Given the description of an element on the screen output the (x, y) to click on. 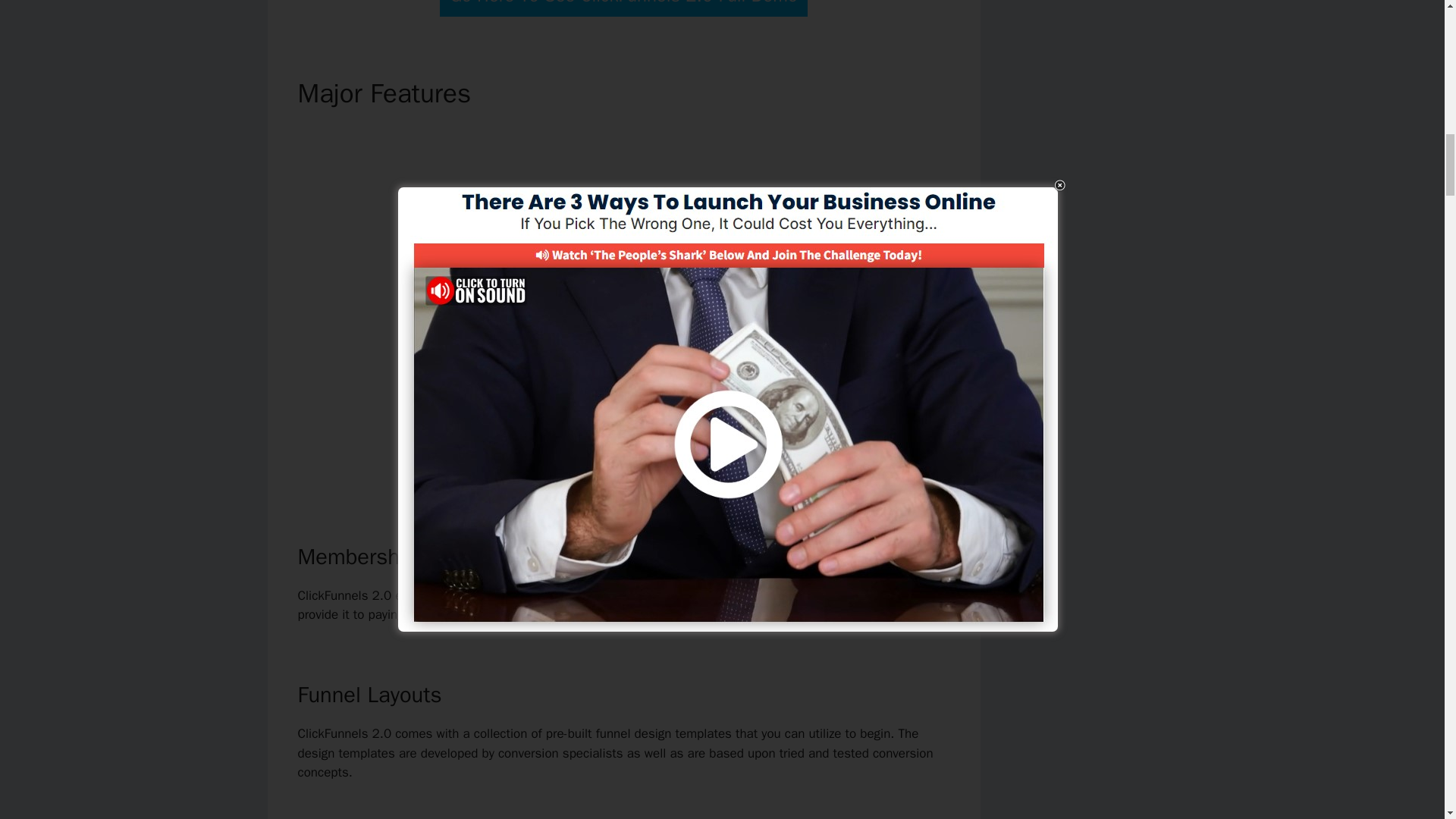
Go Here To See ClickFunnels 2.0 Full Demo (623, 8)
